Given the description of an element on the screen output the (x, y) to click on. 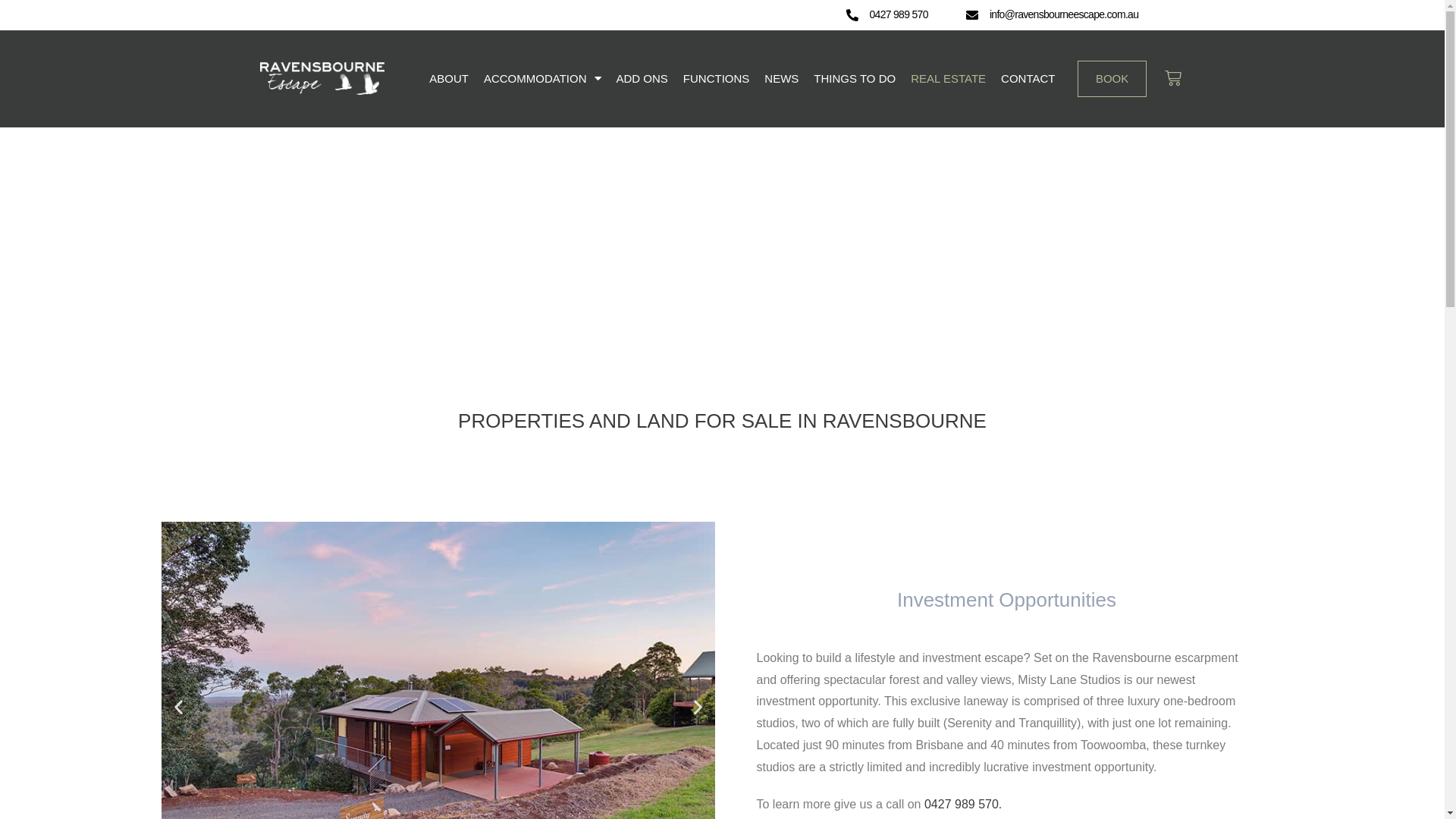
BOOK Element type: text (1111, 78)
CONTACT Element type: text (1027, 78)
THINGS TO DO Element type: text (854, 78)
FUNCTIONS Element type: text (716, 78)
info@ravensbourneescape.com.au Element type: text (1063, 14)
0427 989 570. Element type: text (962, 803)
NEWS Element type: text (781, 78)
ABOUT Element type: text (448, 78)
REAL ESTATE Element type: text (948, 78)
ACCOMMODATION Element type: text (542, 78)
Ravensbourne-Logo-18_Ravensbourne-Logo-18-White.png Element type: hover (321, 78)
0427 989 570 Element type: text (898, 14)
ADD ONS Element type: text (641, 78)
